Given the description of an element on the screen output the (x, y) to click on. 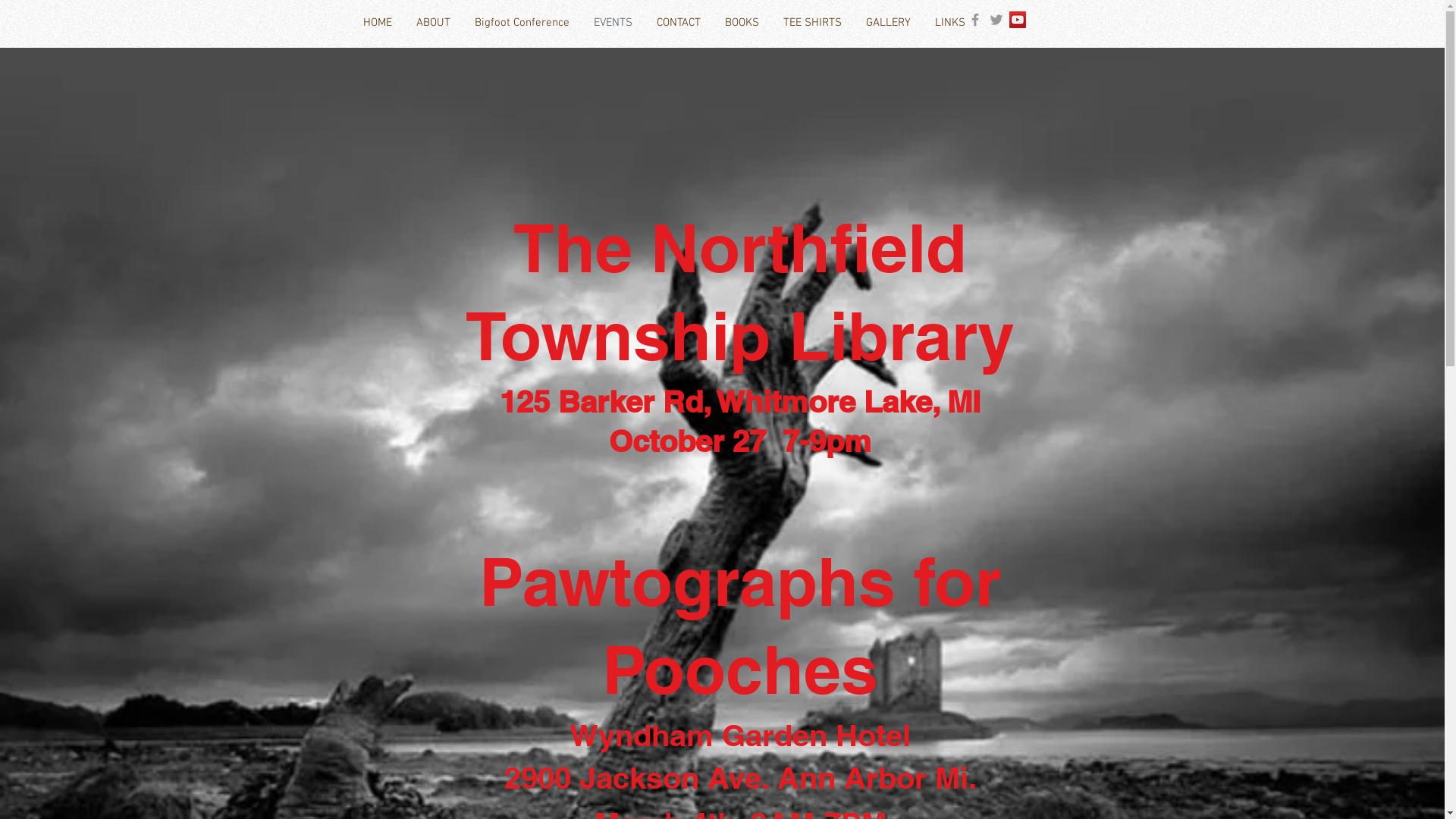
GALLERY Element type: text (887, 22)
CONTACT Element type: text (678, 22)
HOME Element type: text (376, 22)
Bigfoot Conference Element type: text (521, 22)
ABOUT Element type: text (432, 22)
BOOKS Element type: text (741, 22)
EVENTS Element type: text (611, 22)
LINKS Element type: text (949, 22)
TEE SHIRTS Element type: text (811, 22)
